Given the description of an element on the screen output the (x, y) to click on. 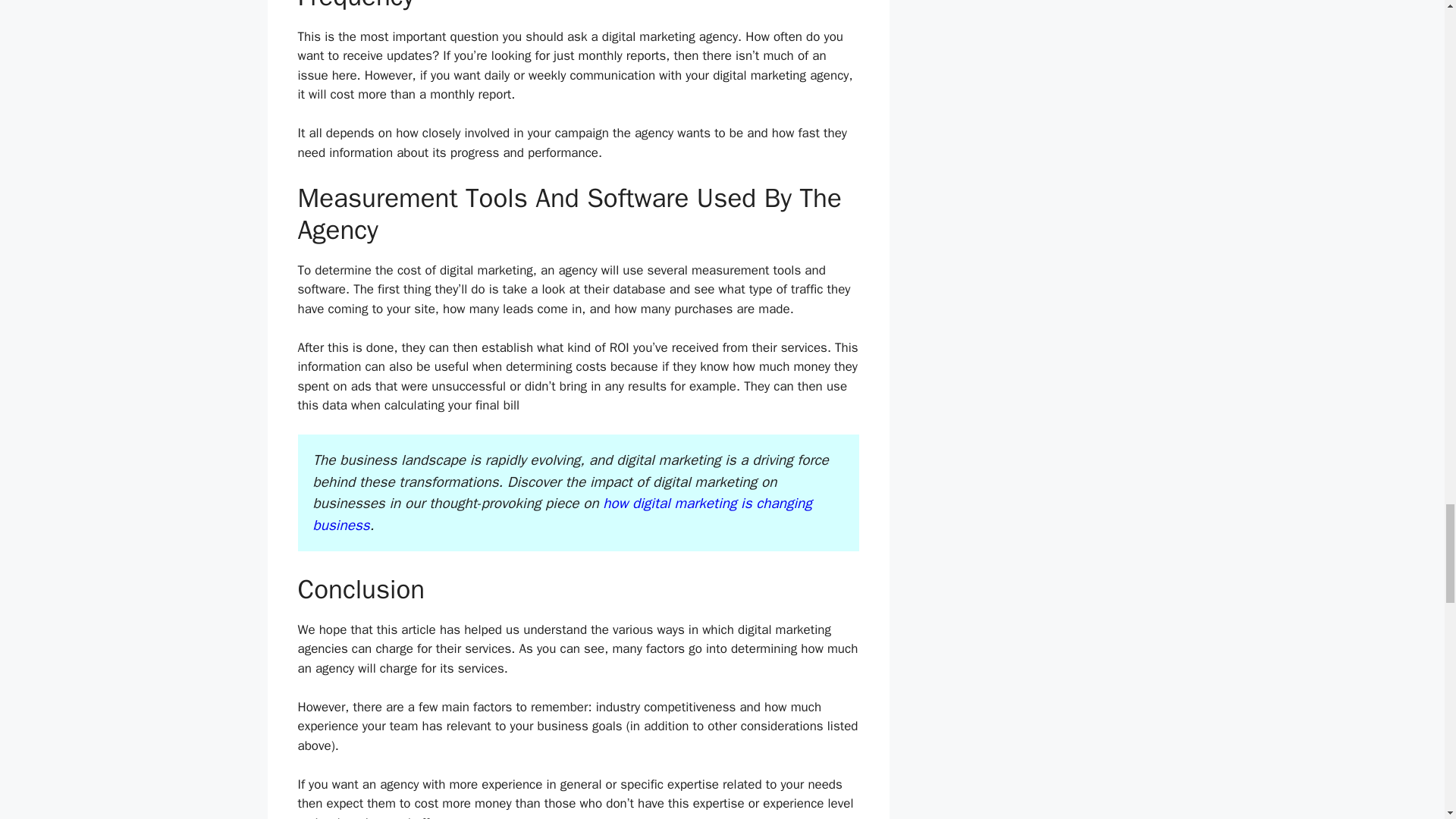
how digital marketing is changing business (561, 514)
